Given the description of an element on the screen output the (x, y) to click on. 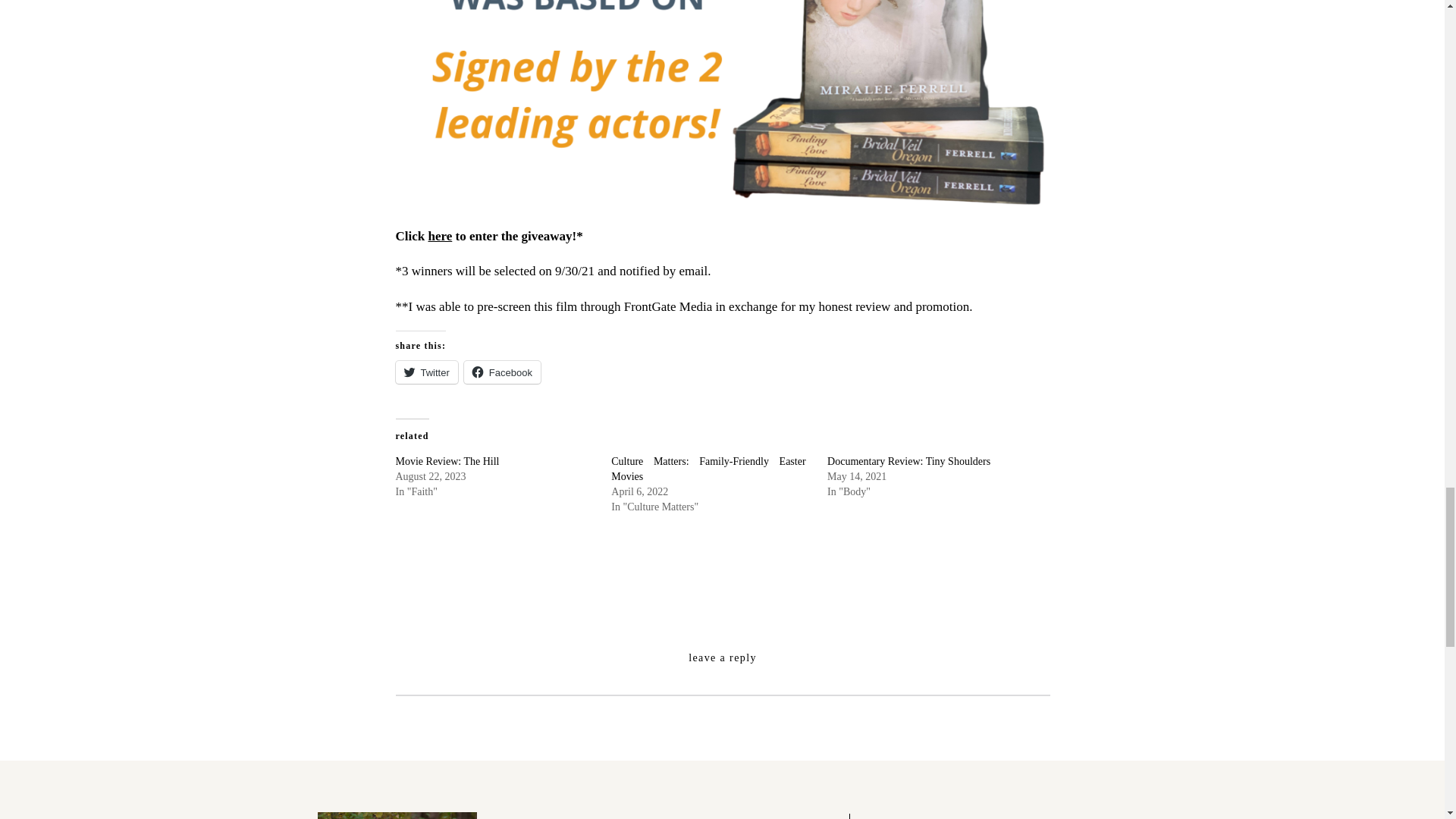
Documentary Review: Tiny Shoulders (908, 460)
Culture Matters: Family-Friendly Easter Movies (708, 468)
here (439, 236)
Movie Review: The Hill (447, 460)
Twitter (427, 372)
Culture Matters: Family-Friendly Easter Movies (708, 468)
Documentary Review: Tiny Shoulders (908, 460)
Click to share on Twitter (427, 372)
Click to share on Facebook (502, 372)
Facebook (502, 372)
Movie Review: The Hill (447, 460)
